Given the description of an element on the screen output the (x, y) to click on. 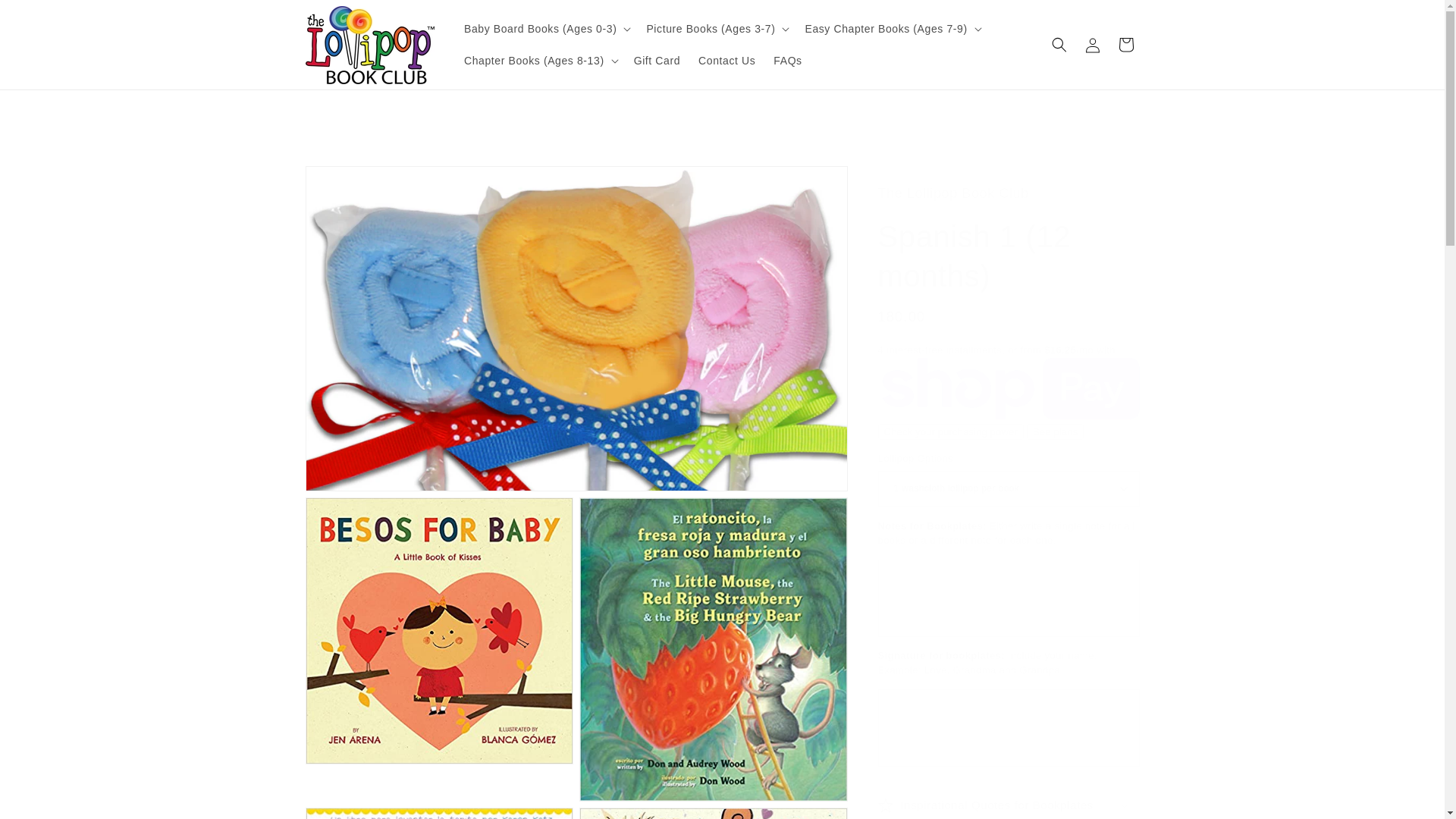
Skip to content (45, 17)
Open media 4 in modal (438, 813)
Open media 5 in modal (713, 813)
